Given the description of an element on the screen output the (x, y) to click on. 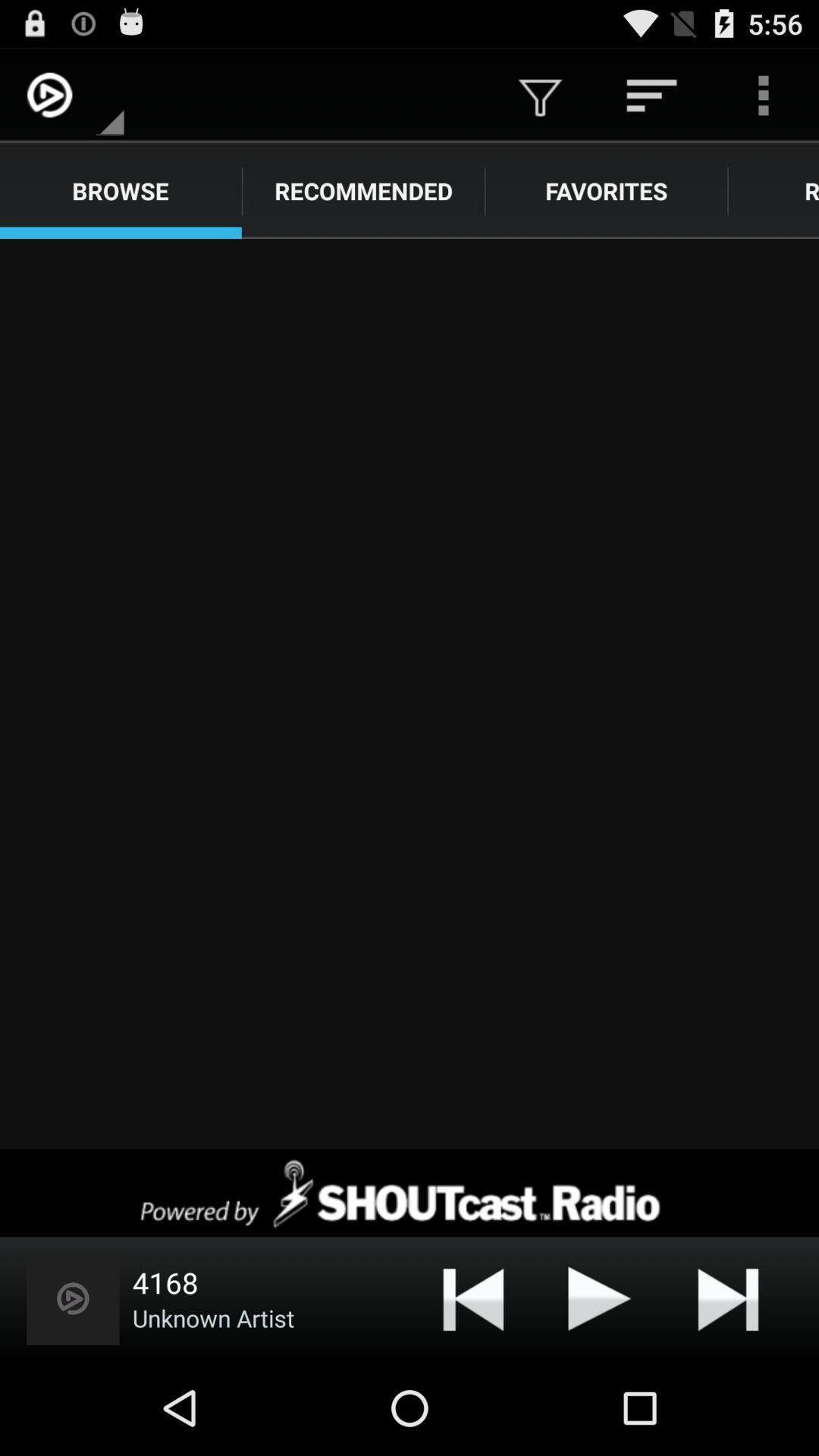
turn off item next to the unknown artist item (472, 1298)
